Given the description of an element on the screen output the (x, y) to click on. 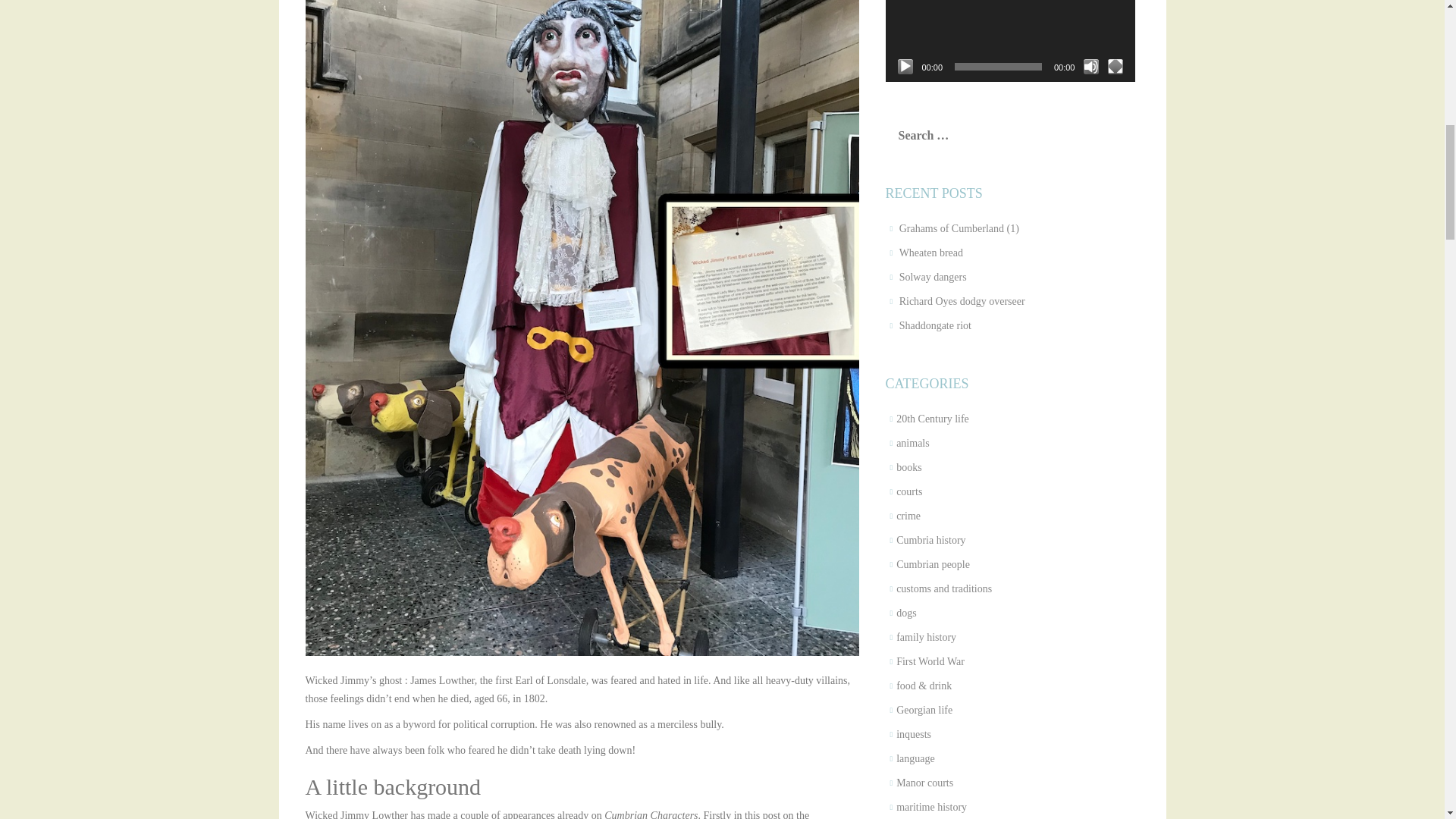
crime (908, 515)
20th Century life (932, 419)
Cumbrian people (932, 564)
Solway dangers (932, 276)
Play (905, 66)
Fullscreen (1115, 66)
family history (926, 636)
courts (908, 491)
customs and traditions (943, 588)
books (908, 467)
